Given the description of an element on the screen output the (x, y) to click on. 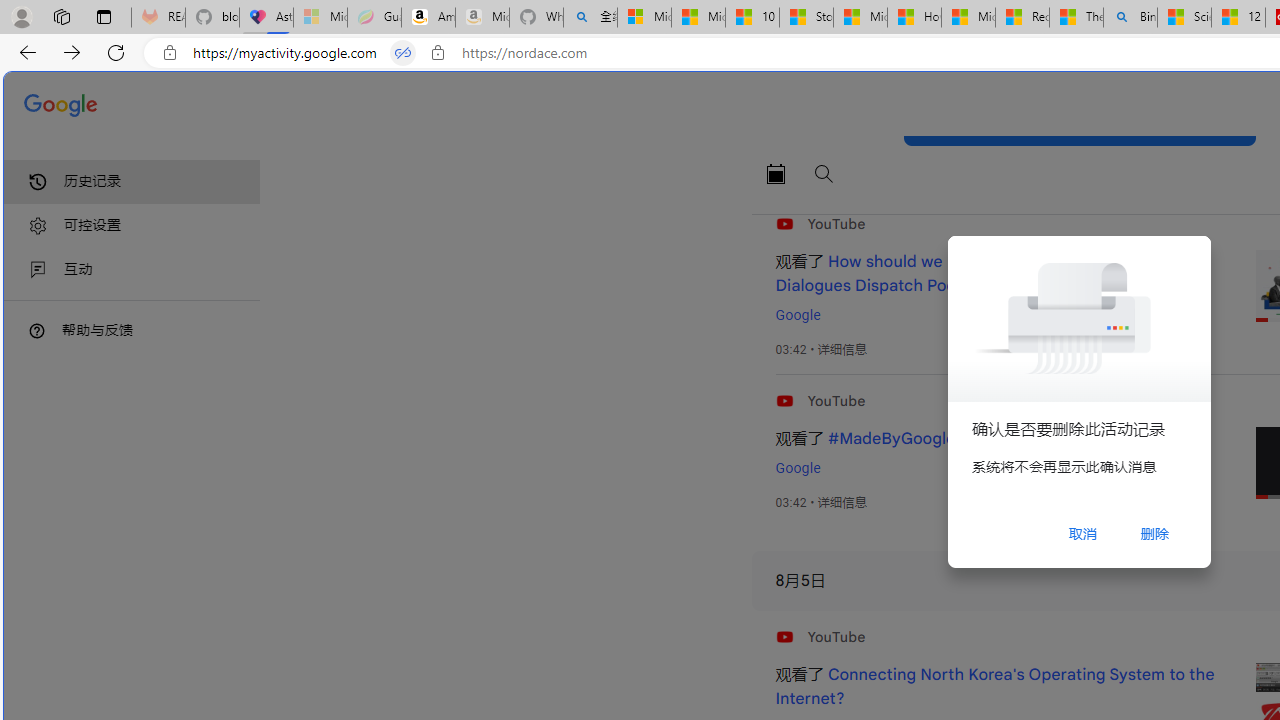
Connecting North Korea's Operating System to the Internet? (994, 687)
Bing (1130, 17)
